Given the description of an element on the screen output the (x, y) to click on. 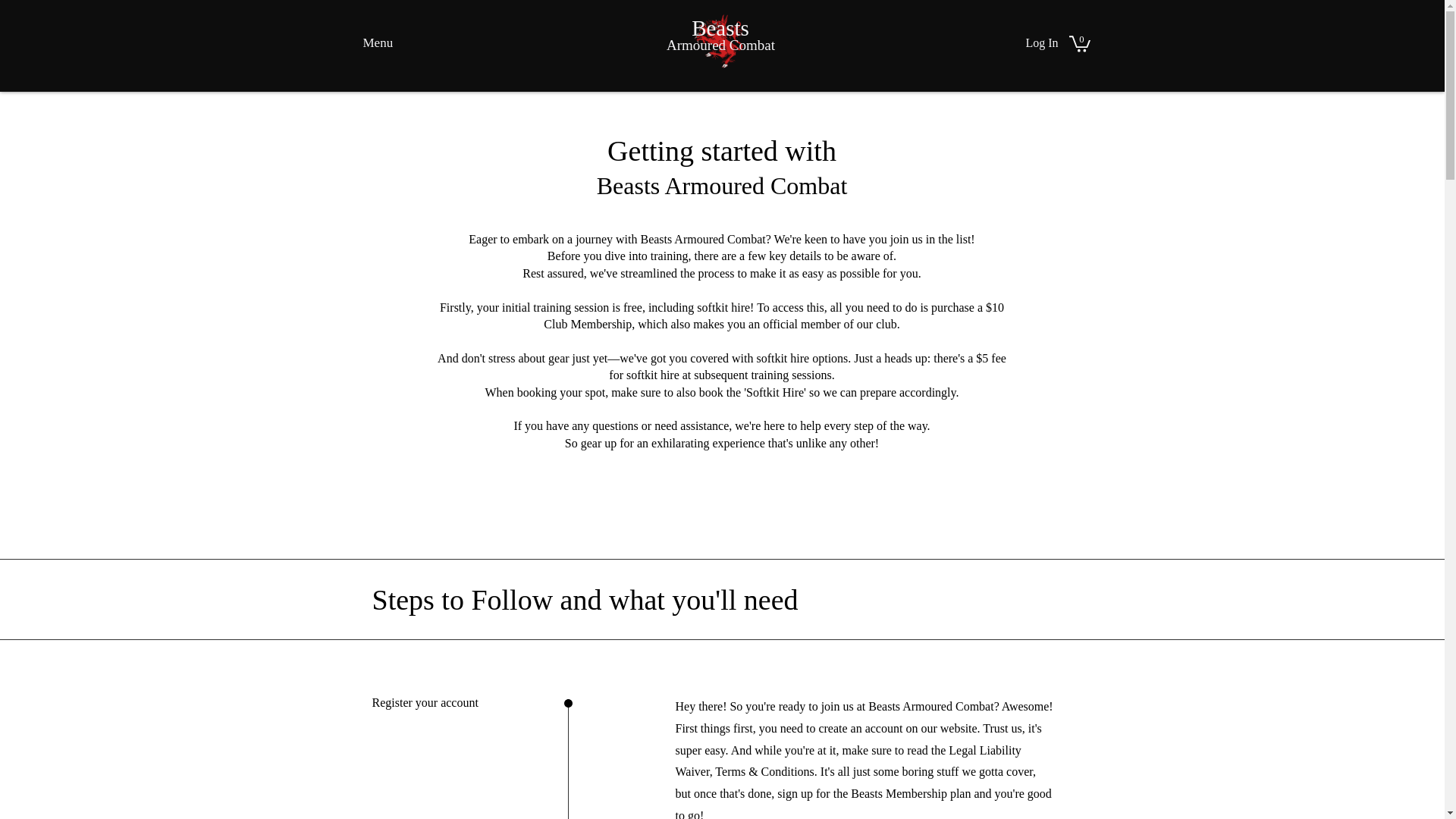
Menu Element type: text (377, 42)
Log In Element type: text (1041, 43)
Beasts Element type: text (720, 27)
Armoured Combat Element type: text (720, 45)
0 Element type: text (1079, 43)
